Given the description of an element on the screen output the (x, y) to click on. 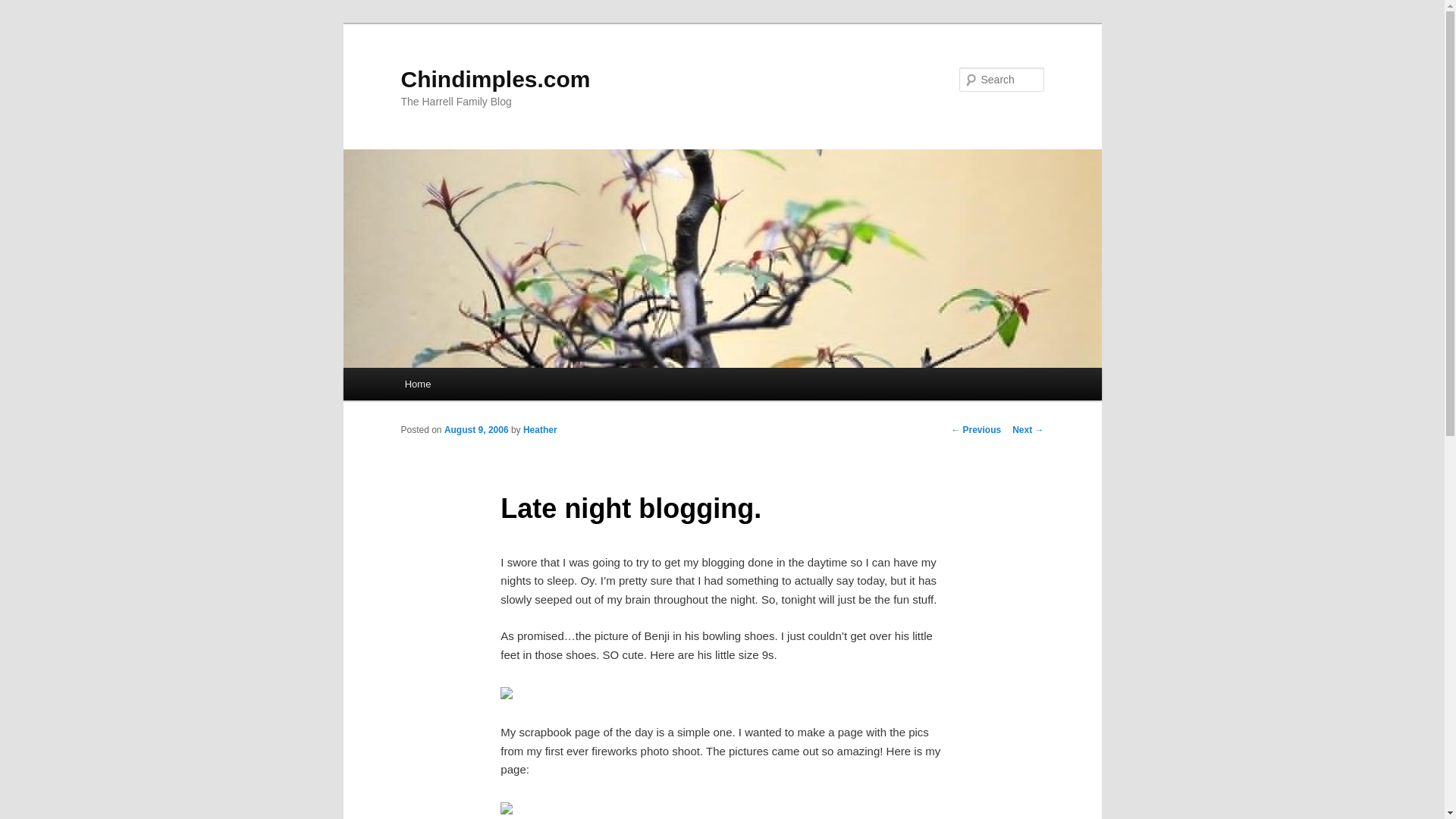
10:02 pm (476, 429)
Home (417, 383)
Heather (539, 429)
August 9, 2006 (476, 429)
Chindimples.com (494, 78)
View all posts by Heather (539, 429)
Search (24, 8)
